Given the description of an element on the screen output the (x, y) to click on. 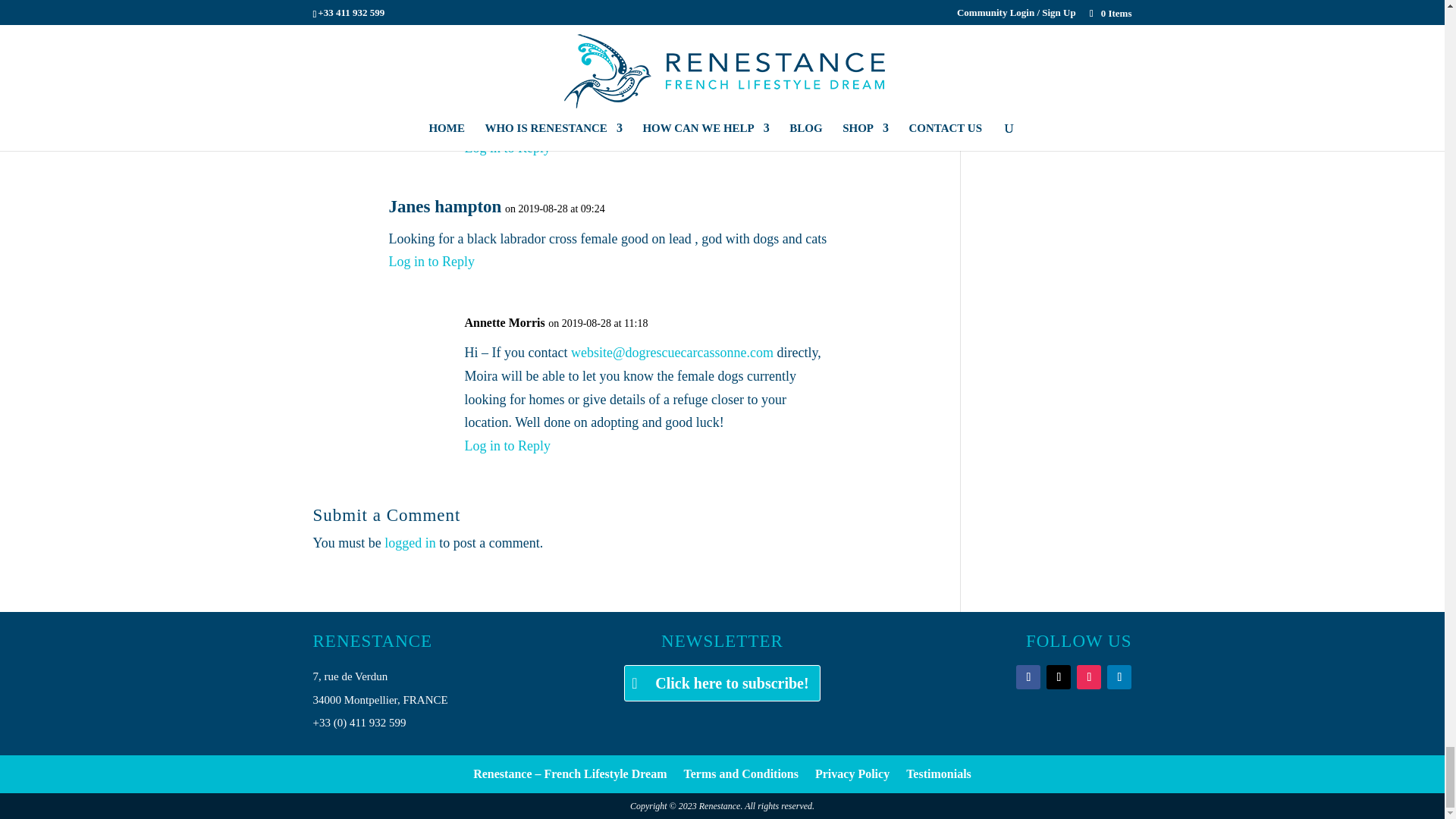
Follow on Instagram (1088, 677)
Follow on Facebook (1028, 677)
Follow on LinkedIn (1118, 677)
Follow on X (1058, 677)
